Given the description of an element on the screen output the (x, y) to click on. 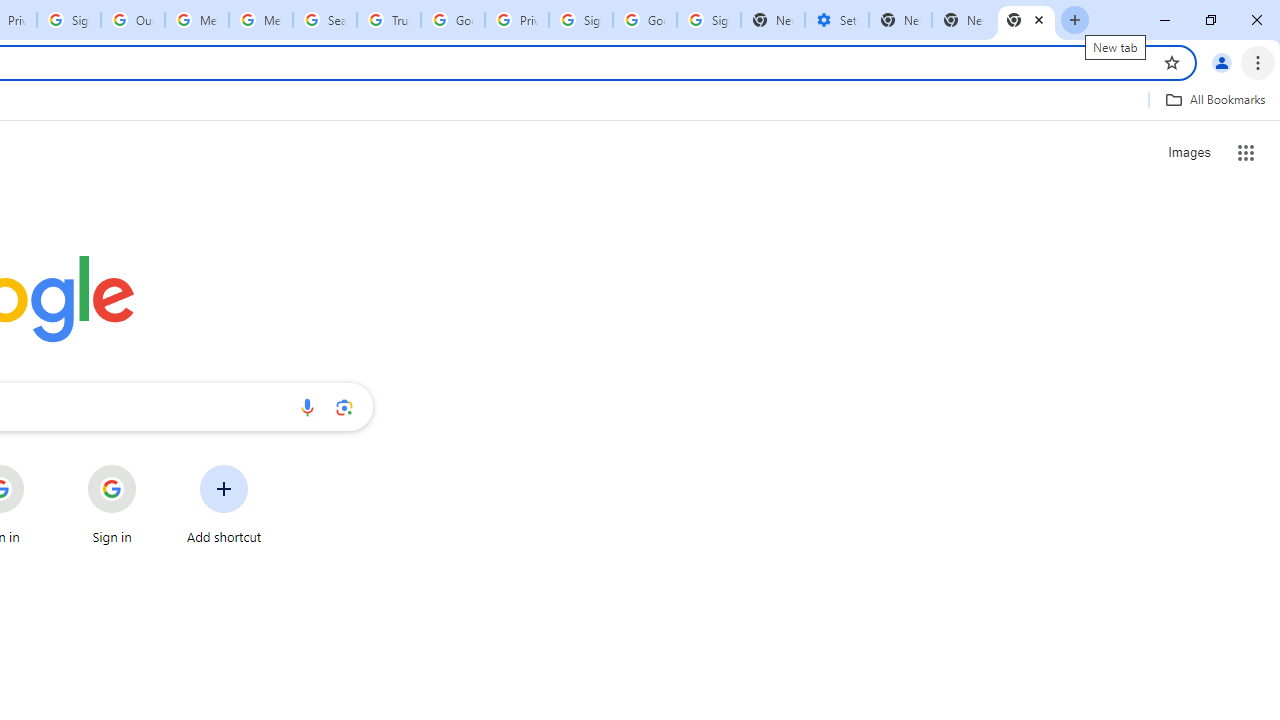
More actions for Sign in shortcut (152, 466)
Trusted Information and Content - Google Safety Center (389, 20)
Google Ads - Sign in (453, 20)
New Tab (900, 20)
Settings - Performance (837, 20)
